Given the description of an element on the screen output the (x, y) to click on. 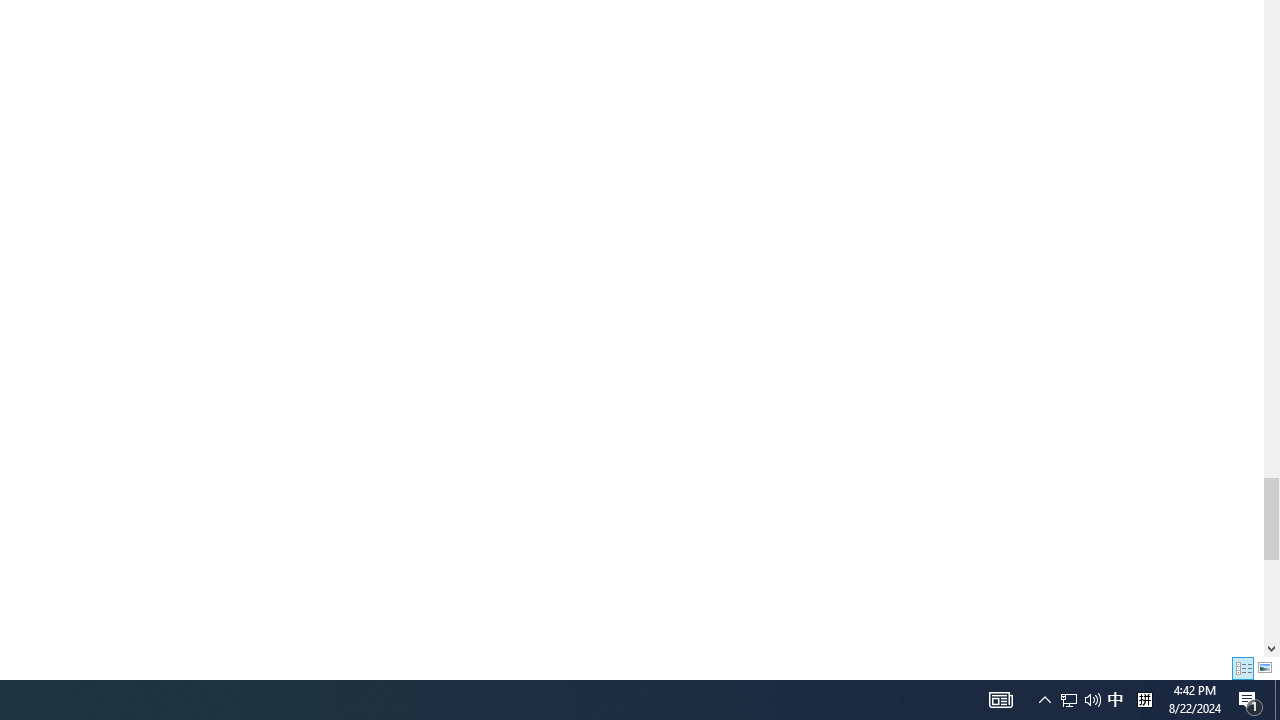
Details (1242, 667)
Large Icons (1265, 667)
